Given the description of an element on the screen output the (x, y) to click on. 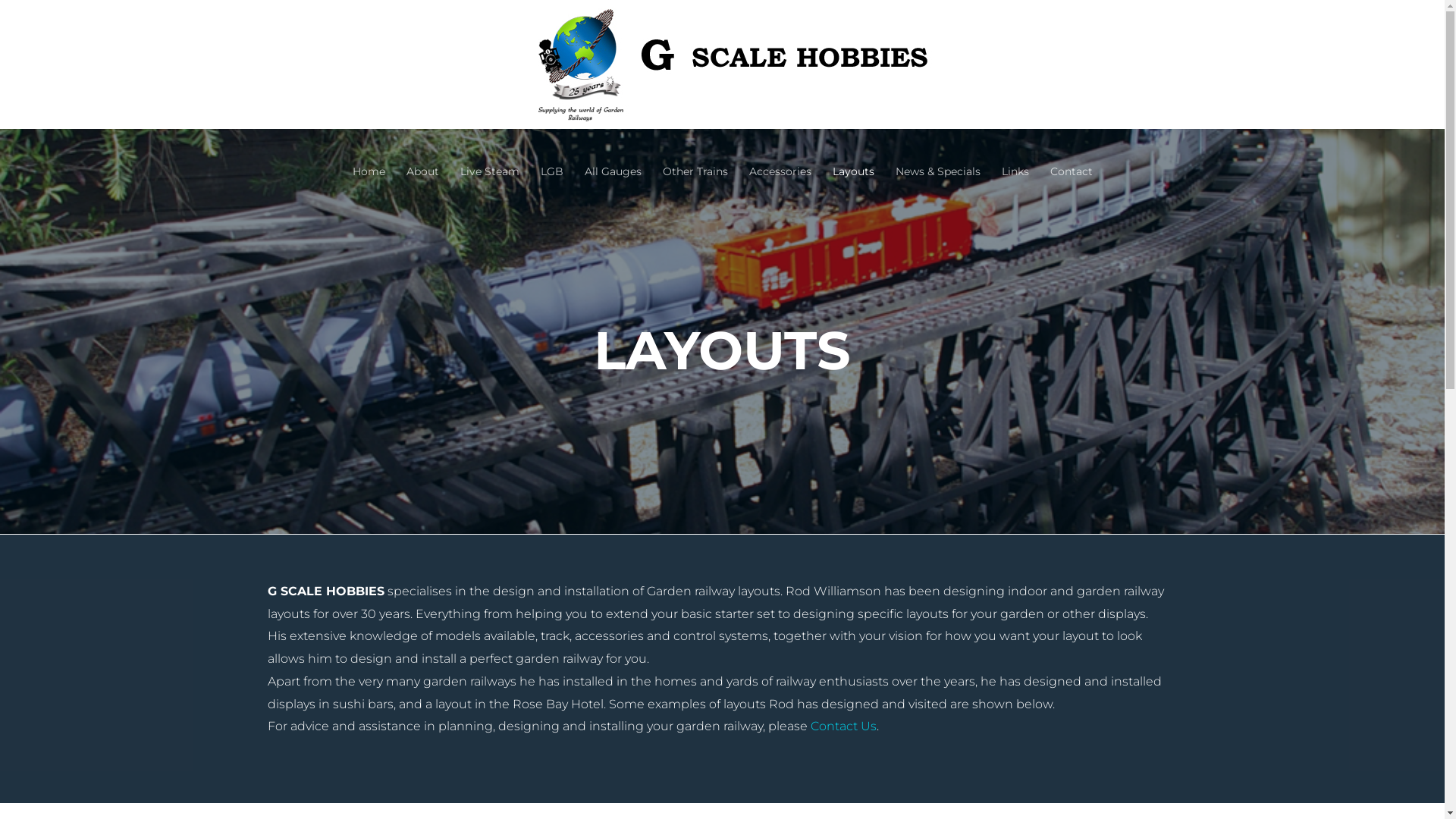
Live Steam Element type: text (488, 114)
Layouts Element type: text (853, 114)
About Element type: text (422, 114)
All Gauges Element type: text (612, 114)
LGB Element type: text (551, 114)
News & Specials Element type: text (937, 114)
Contact Us Element type: text (842, 725)
Accessories Element type: text (780, 114)
Home Element type: text (368, 114)
Links Element type: text (1014, 114)
Contact Element type: text (1070, 114)
Other Trains Element type: text (695, 114)
